Given the description of an element on the screen output the (x, y) to click on. 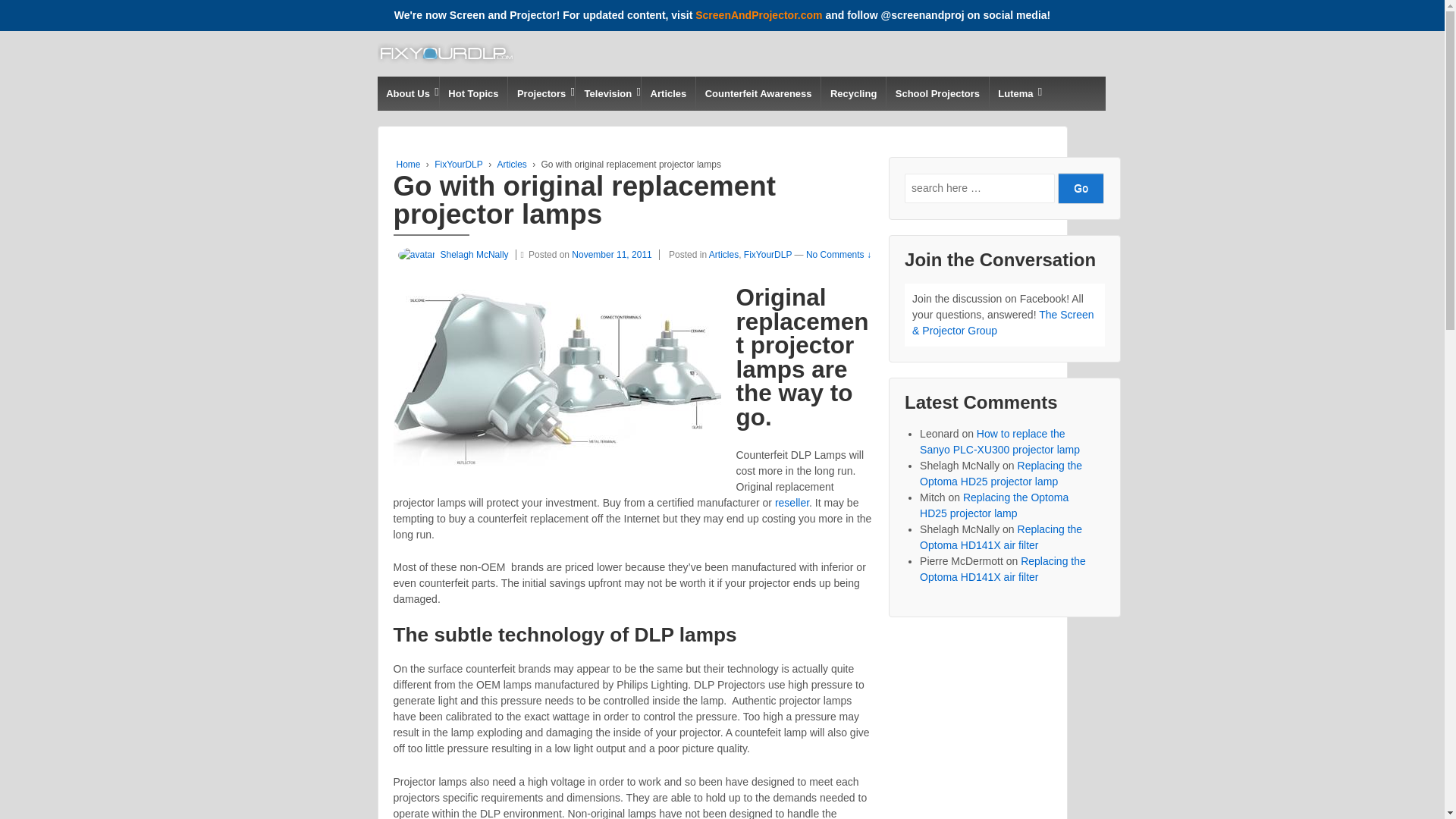
Home (408, 163)
Lutema (1015, 93)
ScreenAndProjector.com (758, 15)
Go (1080, 187)
Articles (667, 93)
Television (607, 93)
FixYourDLP (458, 163)
Hot Topics (473, 93)
Projectors (540, 93)
About Us (408, 93)
School Projectors (936, 93)
Go with original replacement projector lamps (615, 254)
Recycling (853, 93)
View all posts by Shelagh McNally (450, 254)
Counterfeit Awareness (758, 93)
